Given the description of an element on the screen output the (x, y) to click on. 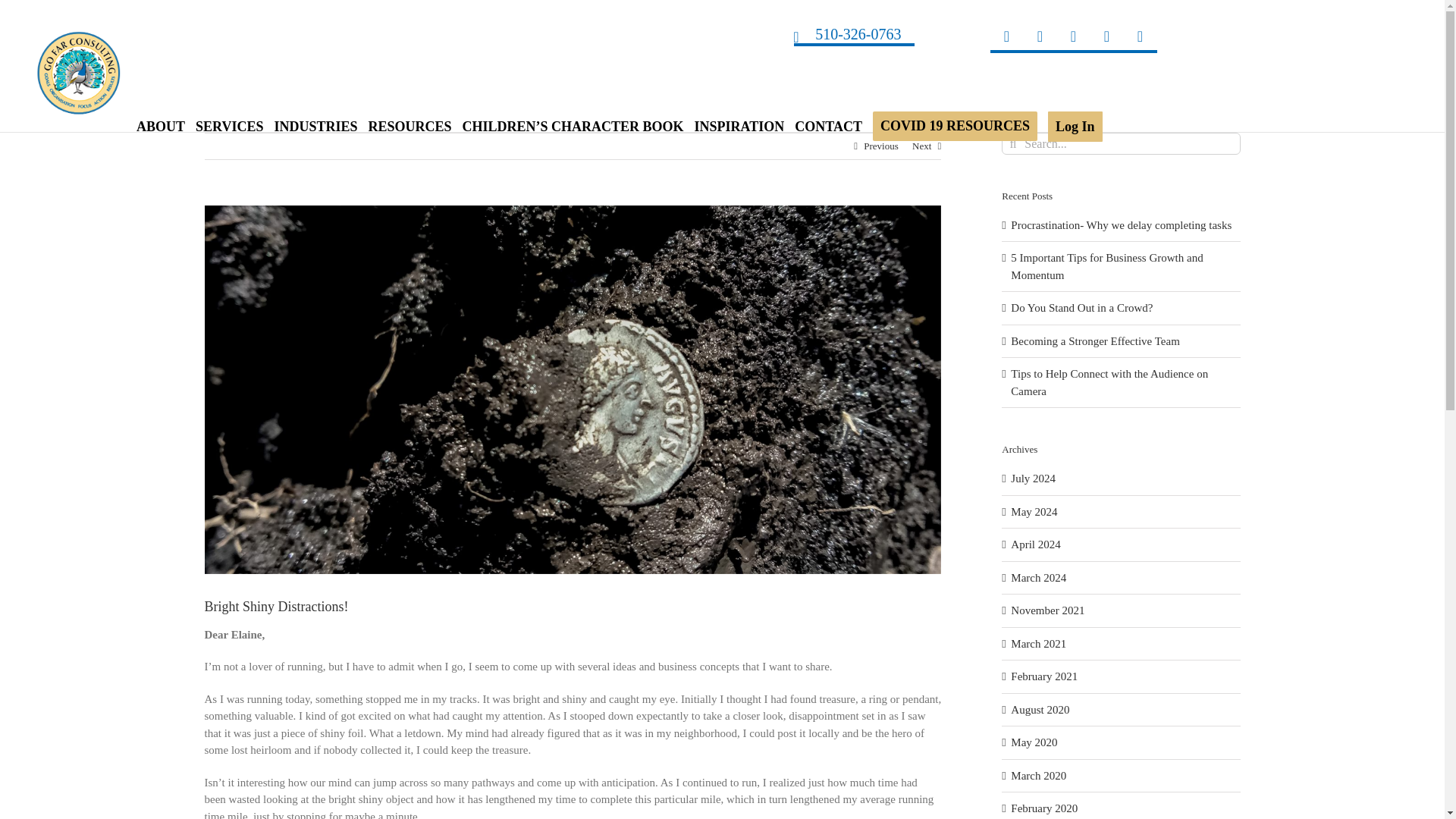
LinkedIn (1072, 35)
YouTube (1106, 35)
Instagram (1139, 35)
X (1039, 35)
LinkedIn (1072, 35)
RESOURCES (409, 126)
Facebook (1005, 35)
Previous (880, 145)
Facebook (1005, 35)
INDUSTRIES (314, 126)
COVID 19 RESOURCES (954, 126)
YouTube (1106, 35)
INSPIRATION (739, 126)
CONTACT (827, 126)
